Given the description of an element on the screen output the (x, y) to click on. 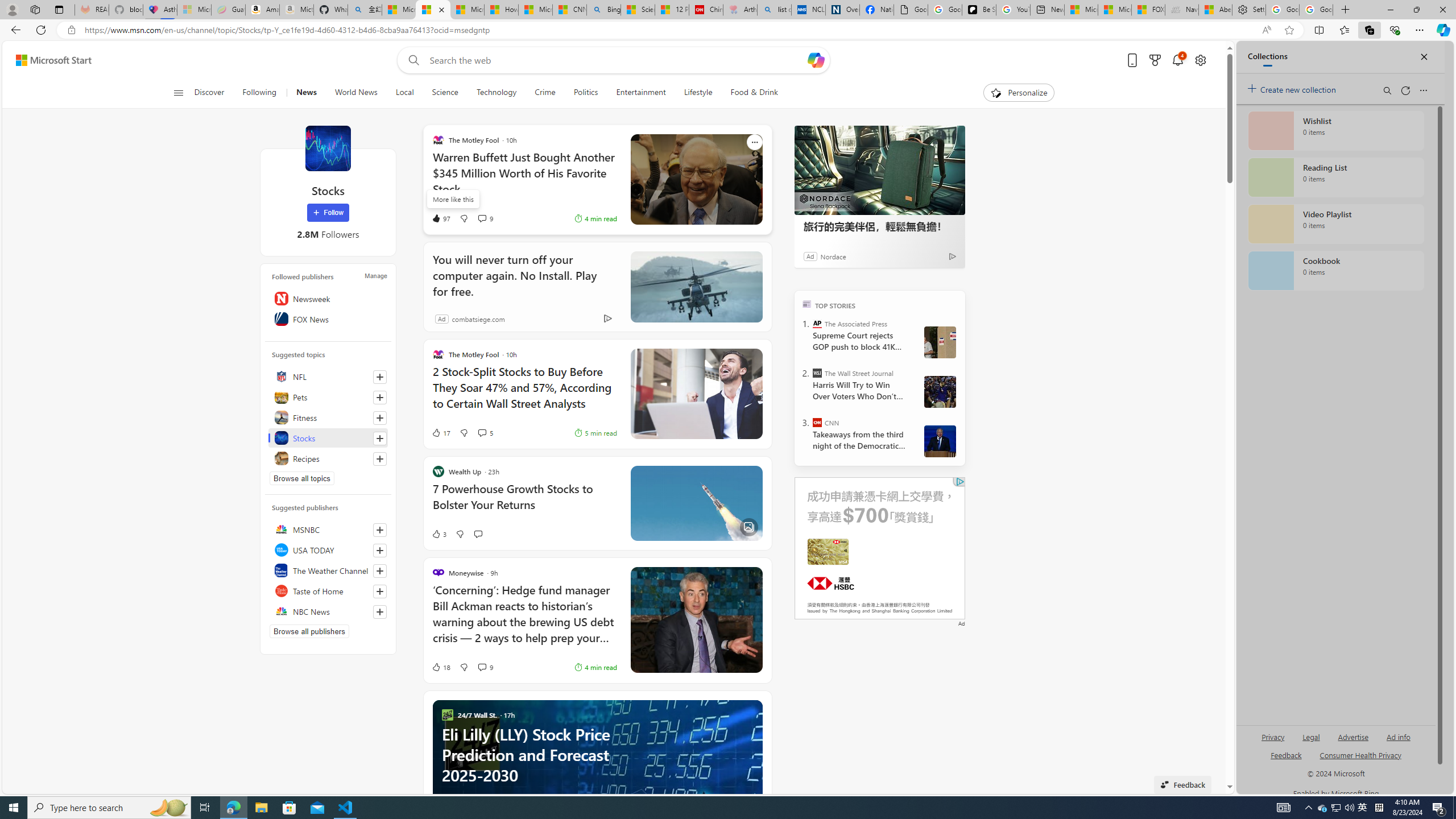
Recipes (327, 458)
USA TODAY (327, 549)
Follow this source (379, 612)
